Given the description of an element on the screen output the (x, y) to click on. 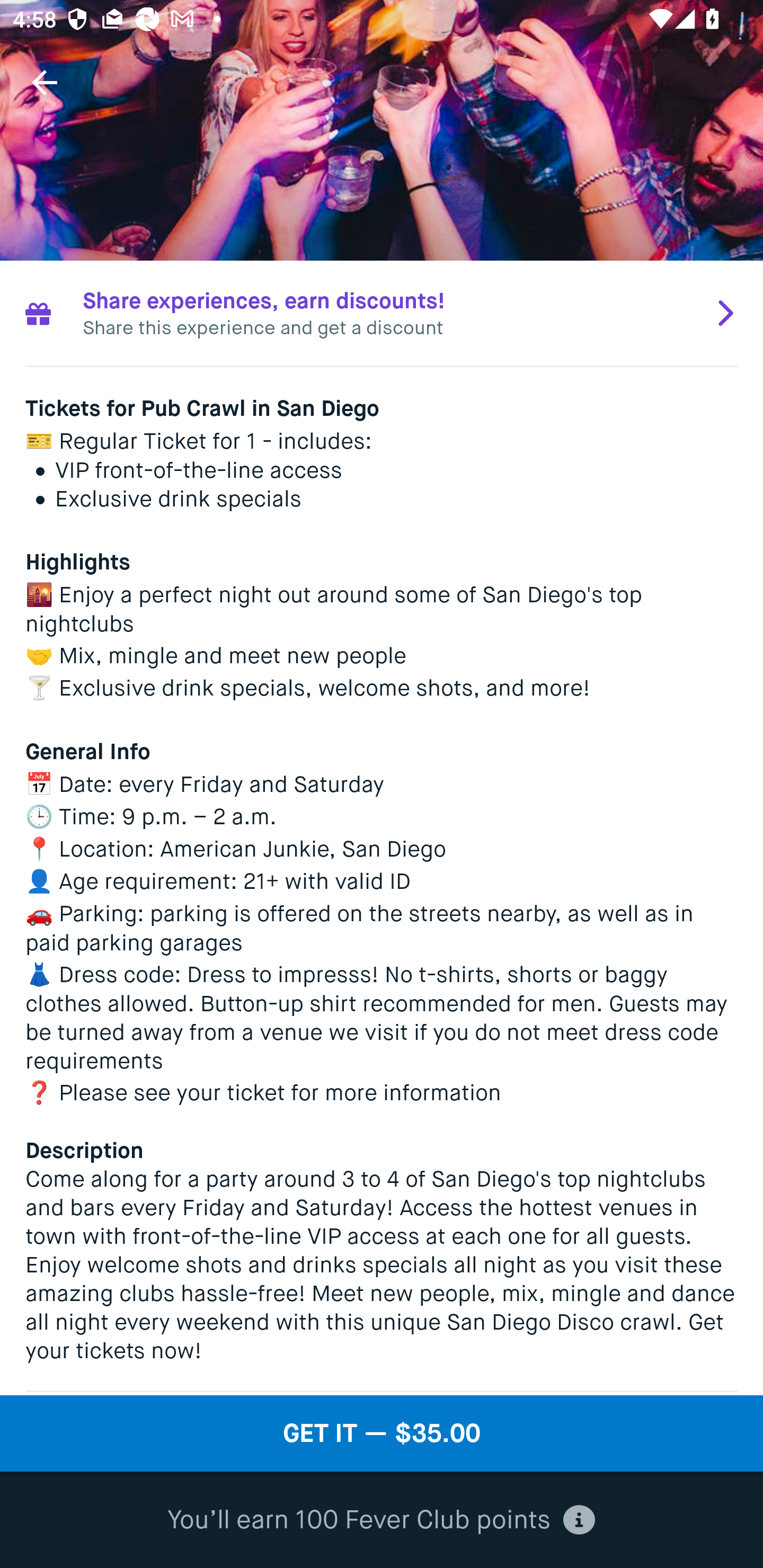
Navigate up (44, 82)
GET IT — $35.00 (381, 1433)
You’ll earn 100 Fever Club points (381, 1519)
